Given the description of an element on the screen output the (x, y) to click on. 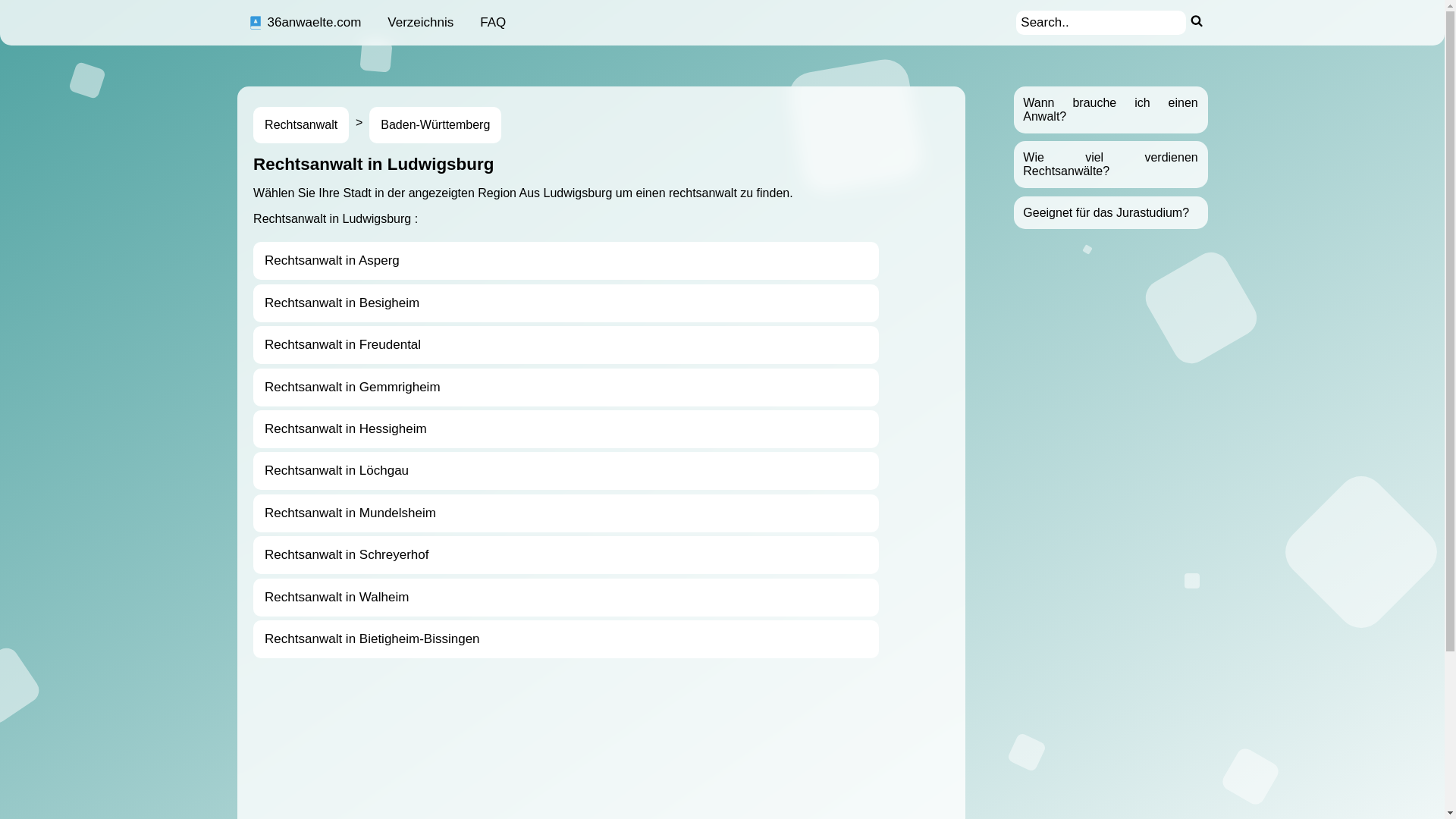
FAQ Element type: text (492, 22)
Rechtsanwalt in Asperg Element type: text (565, 260)
Rechtsanwalt in Schreyerhof Element type: text (565, 555)
Rechtsanwalt in Freudental Element type: text (565, 345)
36anwaelte.com Element type: text (304, 22)
Rechtsanwalt in Hessigheim Element type: text (565, 429)
Verzeichnis Element type: text (420, 22)
Rechtsanwalt in Besigheim Element type: text (565, 303)
Rechtsanwalt Element type: text (300, 124)
Rechtsanwalt in Gemmrigheim Element type: text (565, 387)
Rechtsanwalt in Walheim Element type: text (565, 596)
Rechtsanwalt in Mundelsheim Element type: text (565, 513)
Wann brauche ich einen Anwalt? Element type: text (1109, 109)
Rechtsanwalt in Bietigheim-Bissingen Element type: text (565, 639)
